Given the description of an element on the screen output the (x, y) to click on. 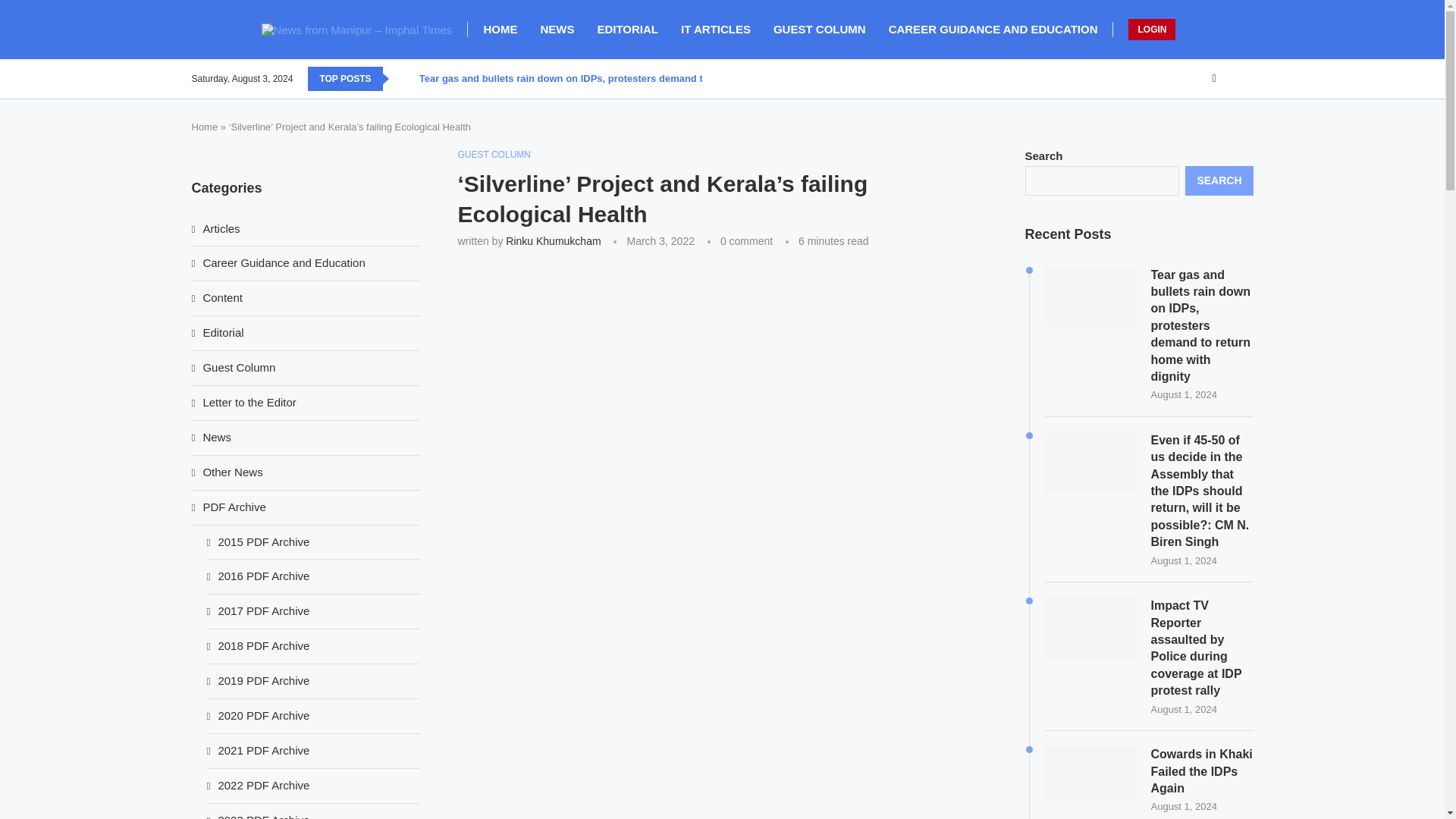
CAREER GUIDANCE AND EDUCATION (992, 29)
EDITORIAL (627, 29)
LOGIN (1151, 29)
IT ARTICLES (716, 29)
GUEST COLUMN (819, 29)
